Given the description of an element on the screen output the (x, y) to click on. 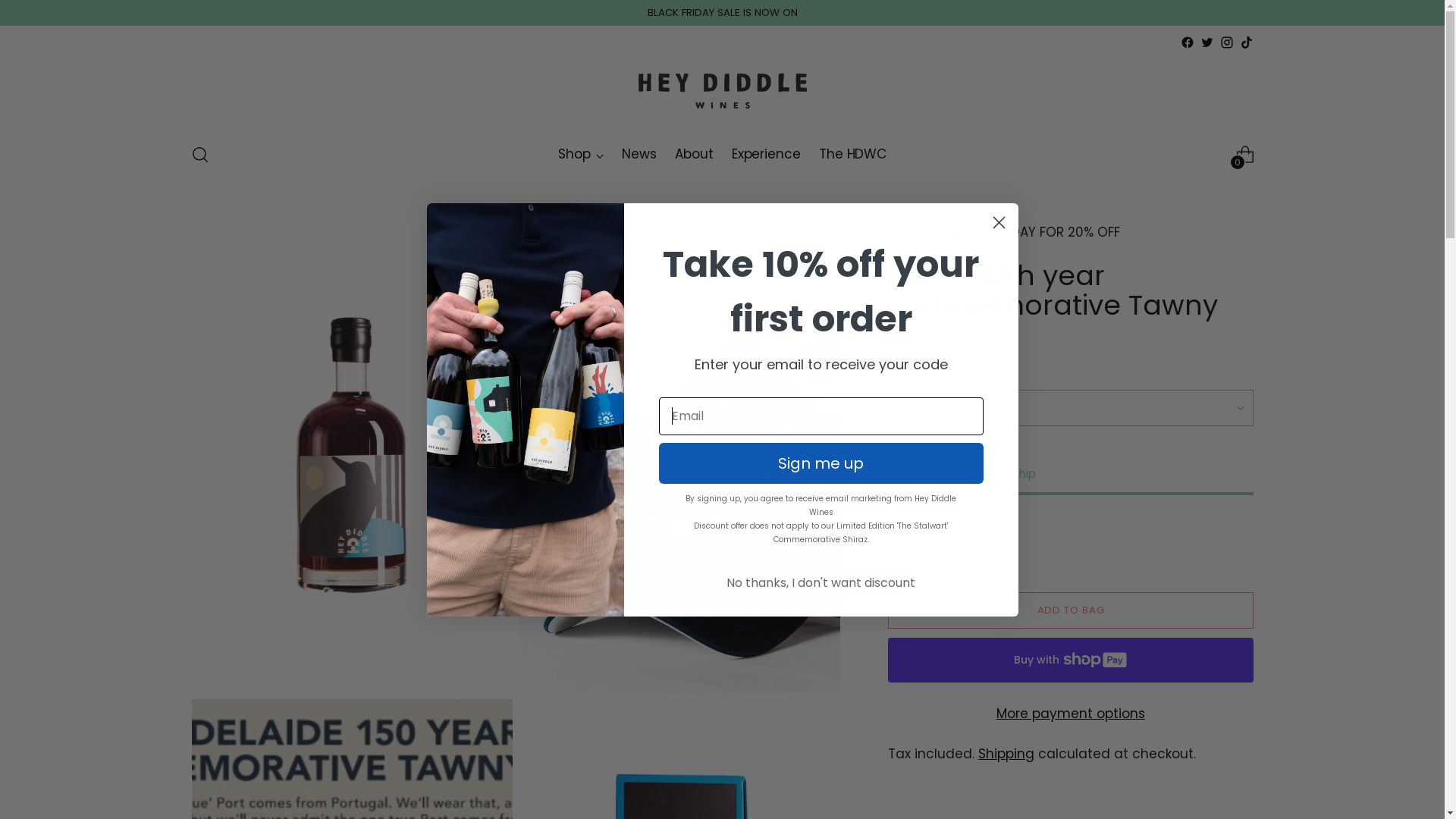
ADD TO BAG Element type: text (1070, 610)
Close dialog 1 Element type: text (998, 222)
Submit Element type: text (26, 10)
0 Element type: text (1245, 154)
Experience Element type: text (765, 154)
More payment options Element type: text (1070, 713)
Shop Element type: text (581, 154)
BLACK FRIDAY SALE IS NOW ON Element type: text (722, 12)
The HDWC Element type: text (852, 154)
No thanks, I don't want discount Element type: text (820, 582)
Hey Diddle Wines on Twitter Element type: hover (1206, 42)
Hey Diddle Wines on Facebook Element type: hover (1186, 42)
Hey Diddle Wines on Instagram Element type: hover (1226, 42)
About Element type: text (693, 154)
Hey Diddle Wines on Tiktok Element type: hover (1245, 42)
News Element type: text (638, 154)
Sign me up Element type: text (820, 462)
Shipping Element type: text (1006, 753)
